Given the description of an element on the screen output the (x, y) to click on. 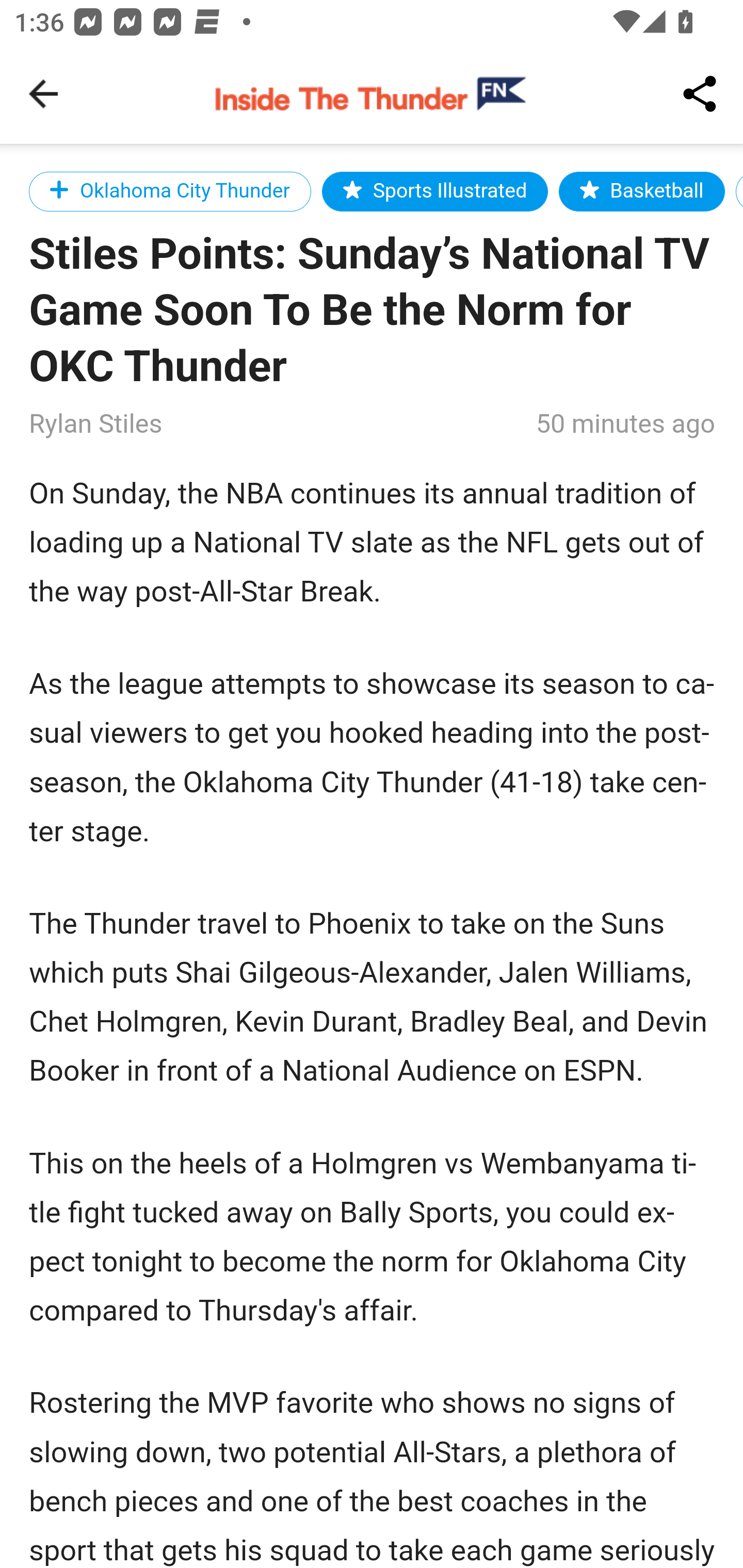
Oklahoma City Thunder (170, 191)
Sports Illustrated (435, 191)
Basketball (641, 191)
